Given the description of an element on the screen output the (x, y) to click on. 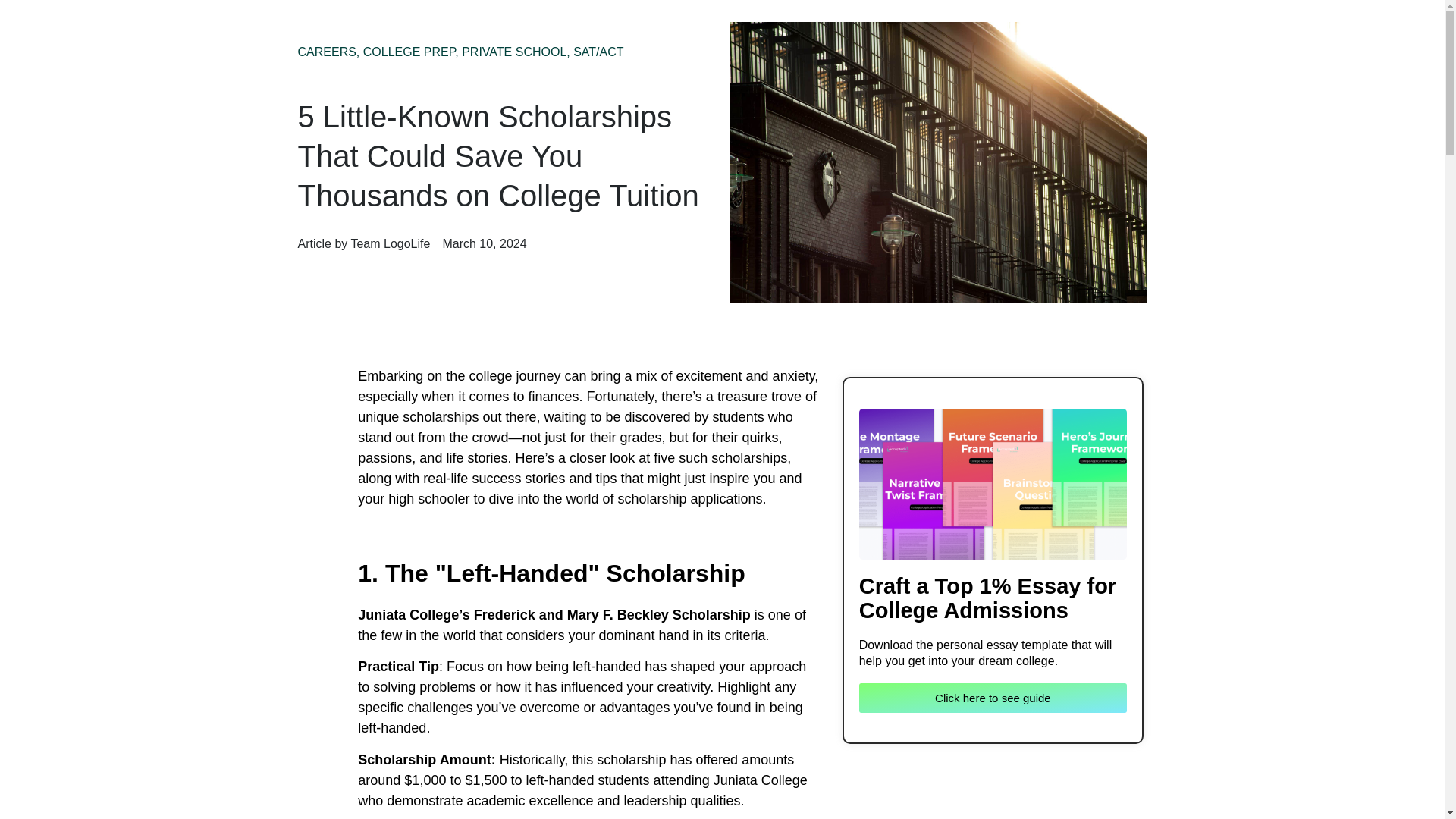
COLLEGE PREP (408, 51)
CAREERS (326, 51)
PRIVATE SCHOOL (513, 51)
Article by Team LogoLife (363, 244)
March 10, 2024 (483, 244)
Click here to see guide (992, 697)
